Given the description of an element on the screen output the (x, y) to click on. 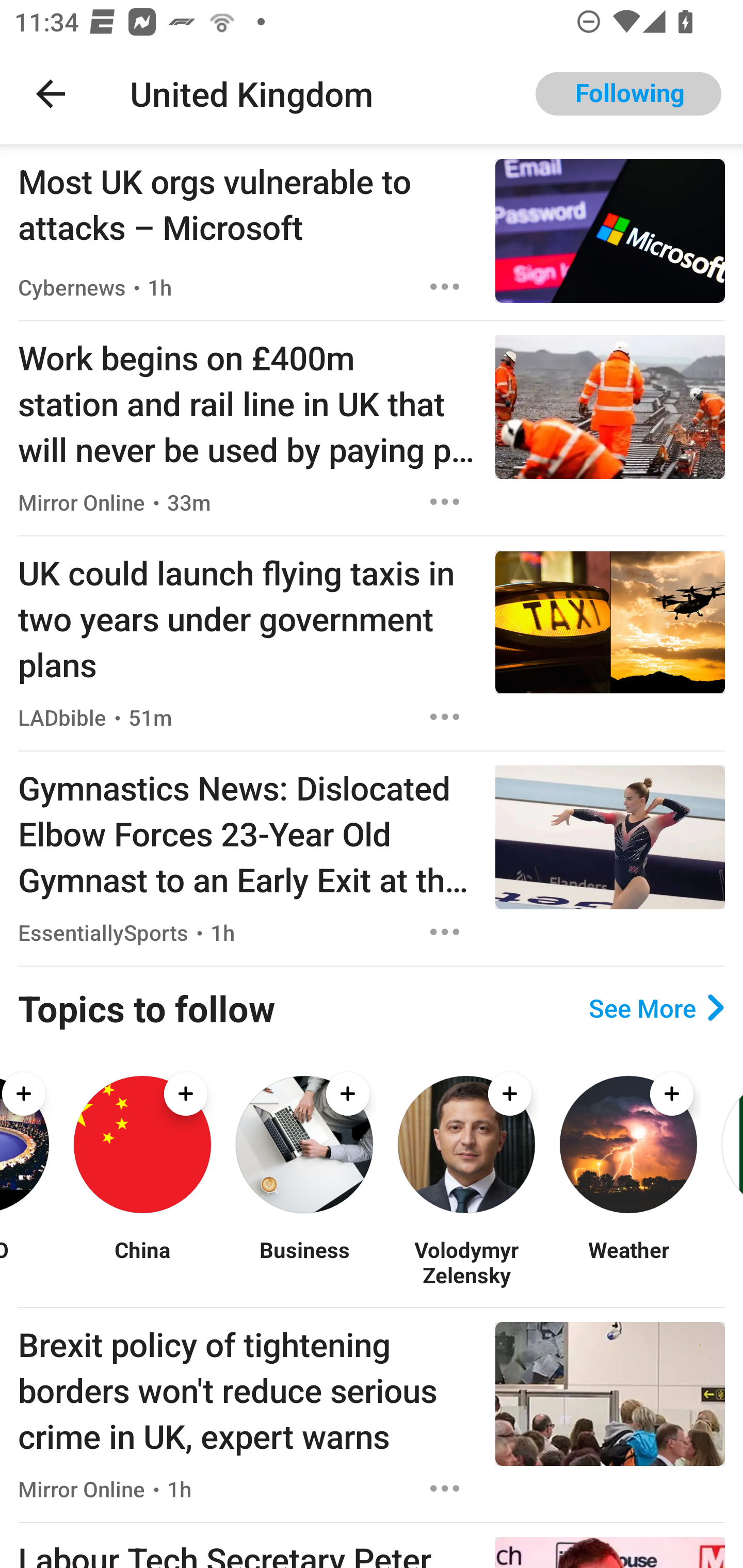
Navigate up (50, 93)
Following (628, 94)
Options (444, 286)
Options (444, 501)
Options (444, 716)
Options (444, 932)
See More (656, 1007)
China (141, 1261)
Business (303, 1261)
Volodymyr Zelensky (466, 1261)
Weather (628, 1261)
Options (444, 1488)
